Given the description of an element on the screen output the (x, y) to click on. 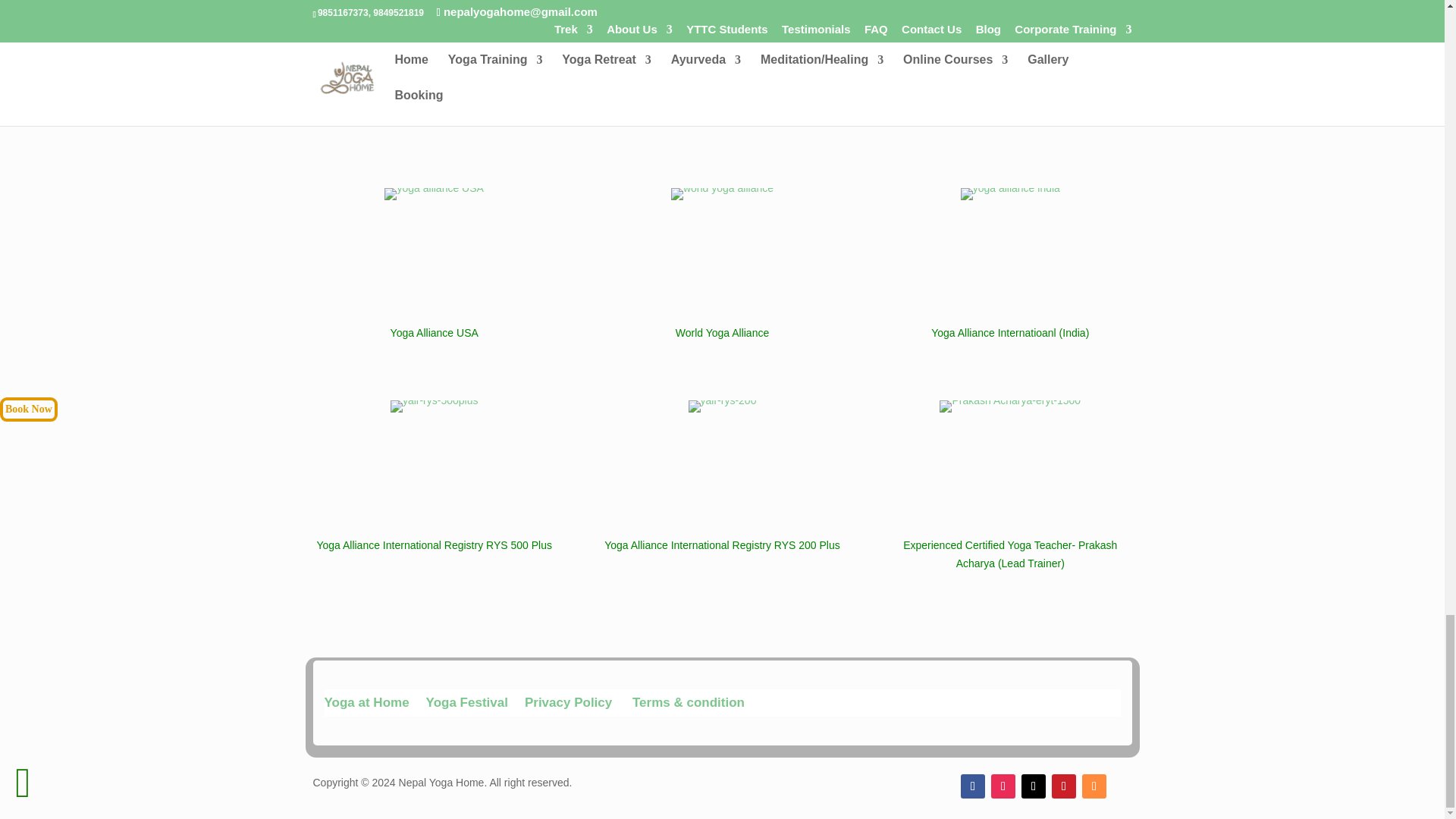
Follow on Facebook (972, 785)
Follow on Instagram (1002, 785)
Follow on X (1033, 785)
Prakash Acharya-eryt-1500 (1009, 457)
Follow on Pinterest (1063, 785)
world yoga alliance (722, 245)
Follow on RSS (1093, 785)
